Given the description of an element on the screen output the (x, y) to click on. 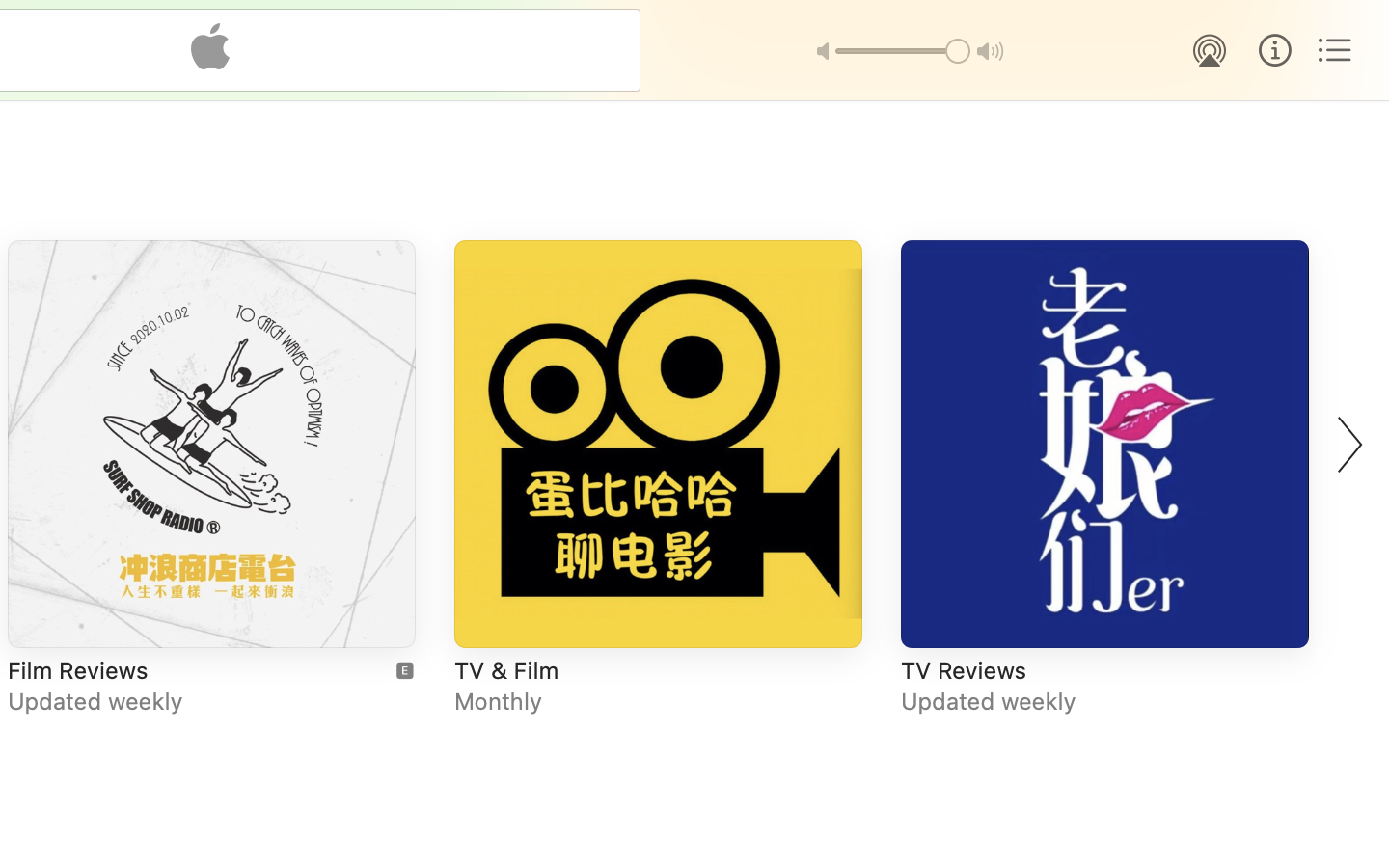
1.0 Element type: AXSlider (902, 50)
